Given the description of an element on the screen output the (x, y) to click on. 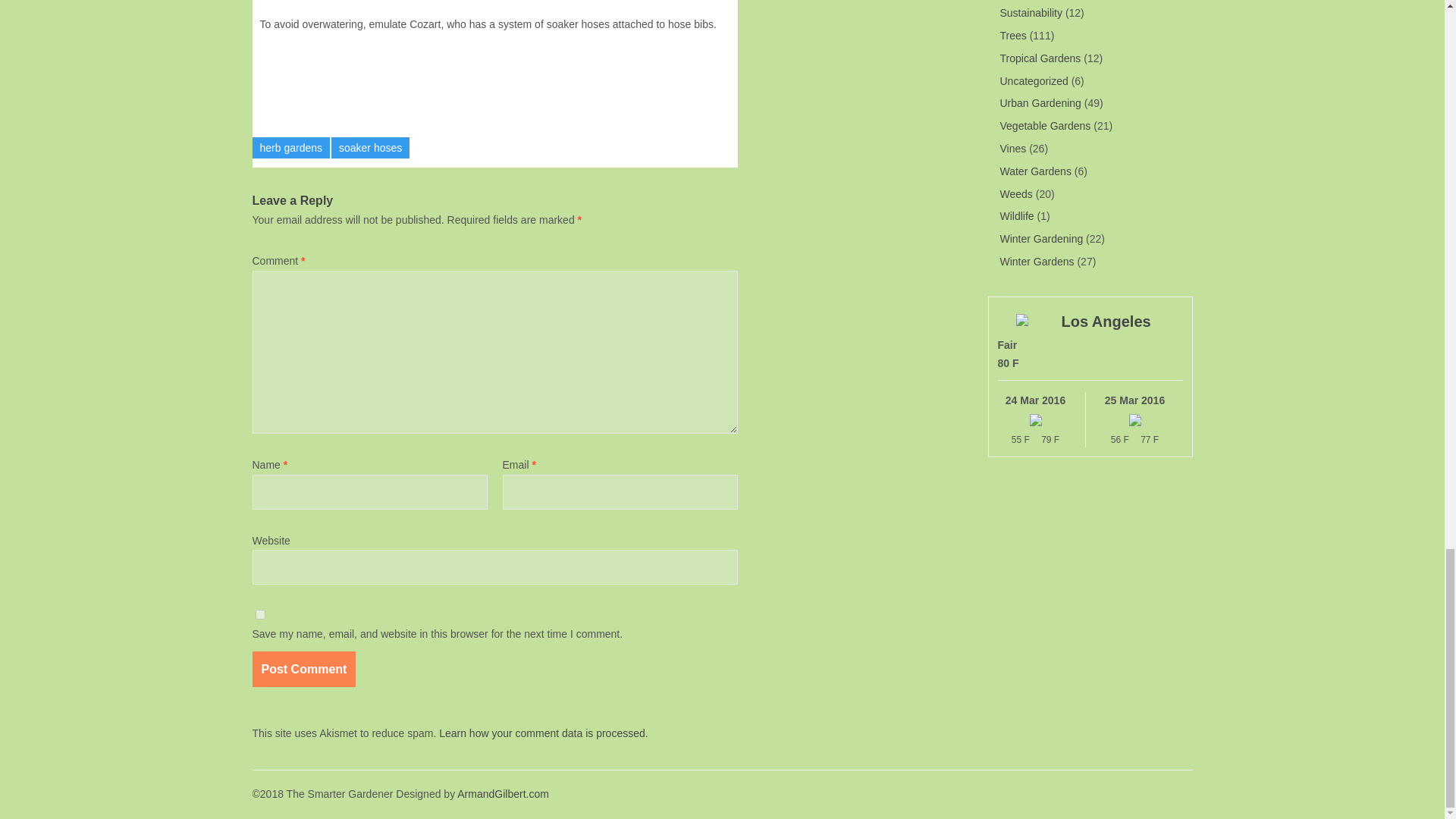
yes (259, 614)
Learn how your comment data is processed (542, 733)
herb gardens (290, 147)
Post Comment (303, 669)
soaker hoses (370, 147)
Post Comment (303, 669)
